Given the description of an element on the screen output the (x, y) to click on. 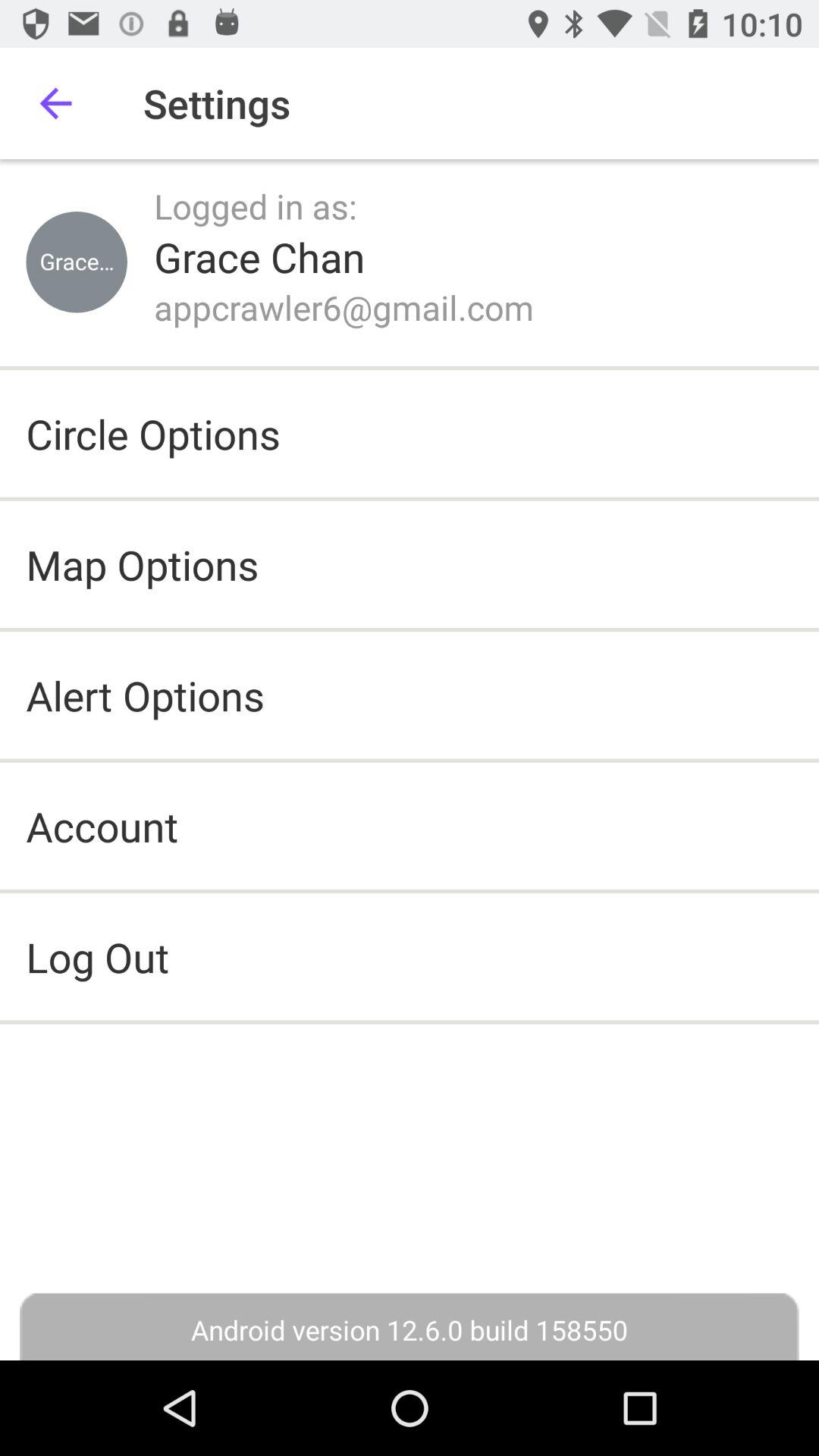
flip to appcrawler6@gmail.com icon (344, 307)
